Given the description of an element on the screen output the (x, y) to click on. 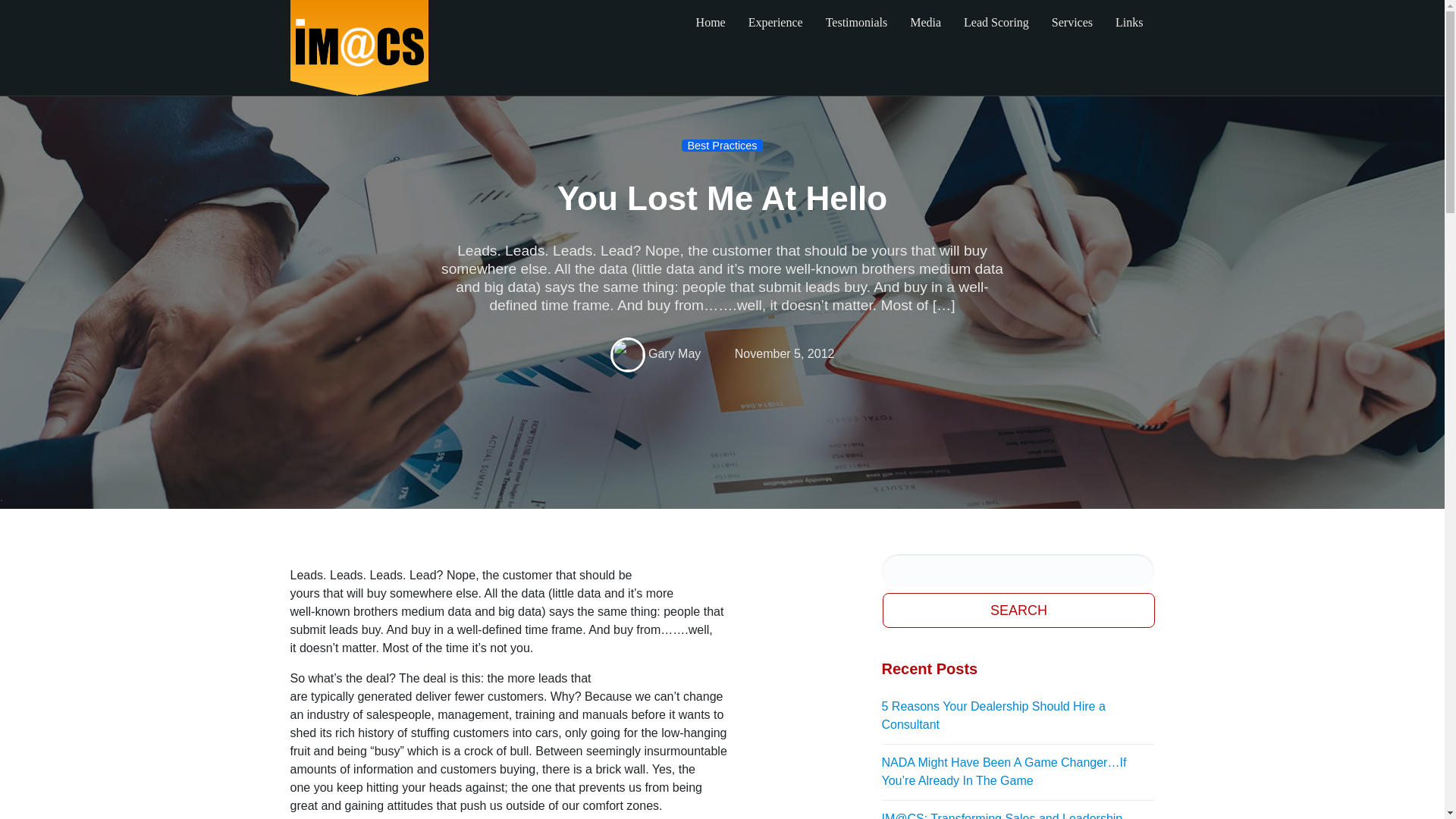
Home (710, 22)
Testimonials (856, 22)
Media (925, 22)
Gary May (673, 353)
Lead Scoring (996, 22)
Experience (774, 22)
Links (1128, 22)
5 Reasons Your Dealership Should Hire a Consultant (1017, 715)
Services (1072, 22)
November 5, 2012 (784, 353)
